Given the description of an element on the screen output the (x, y) to click on. 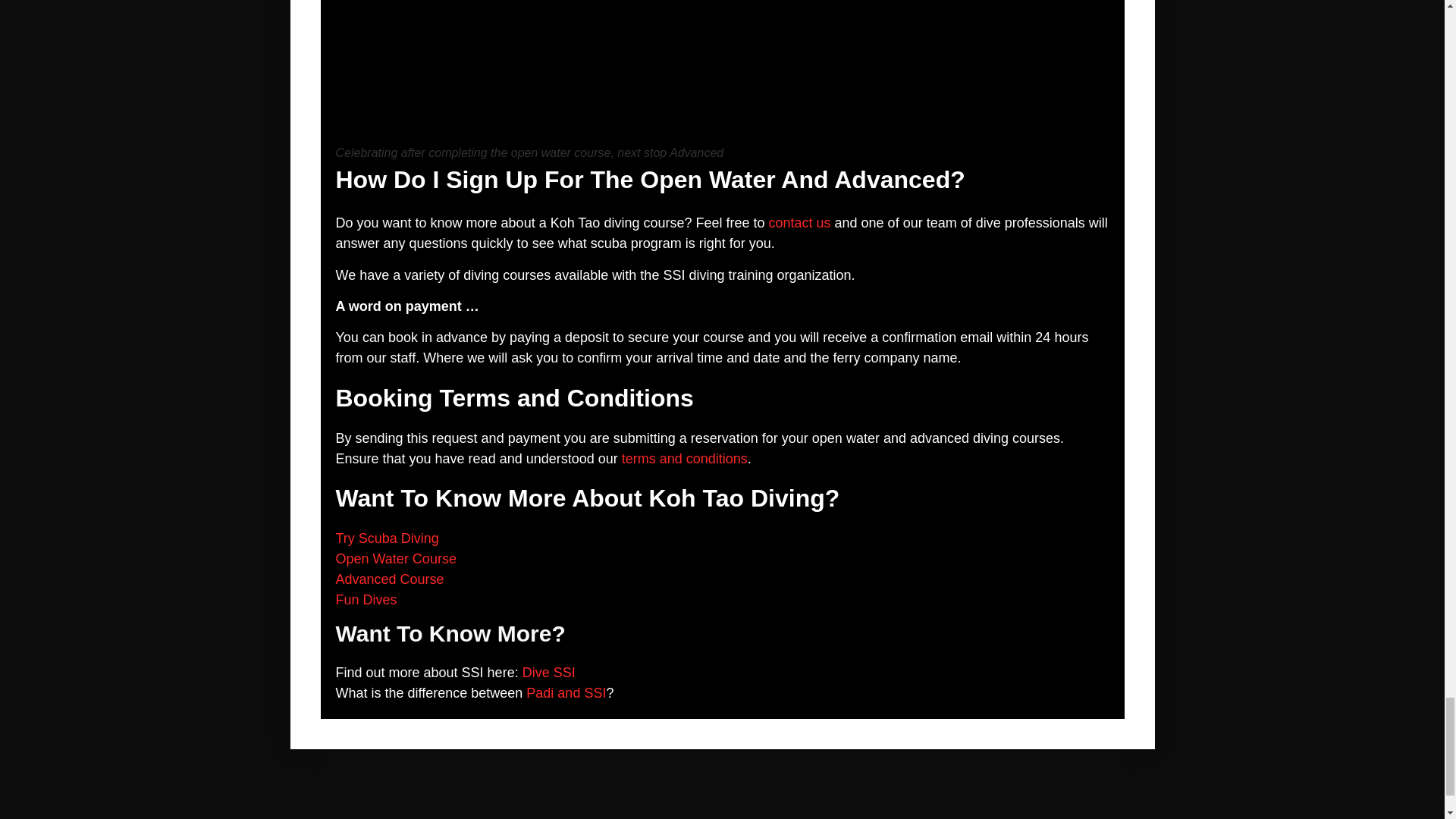
Open Water and Advanced 30m 5 (721, 72)
